Given the description of an element on the screen output the (x, y) to click on. 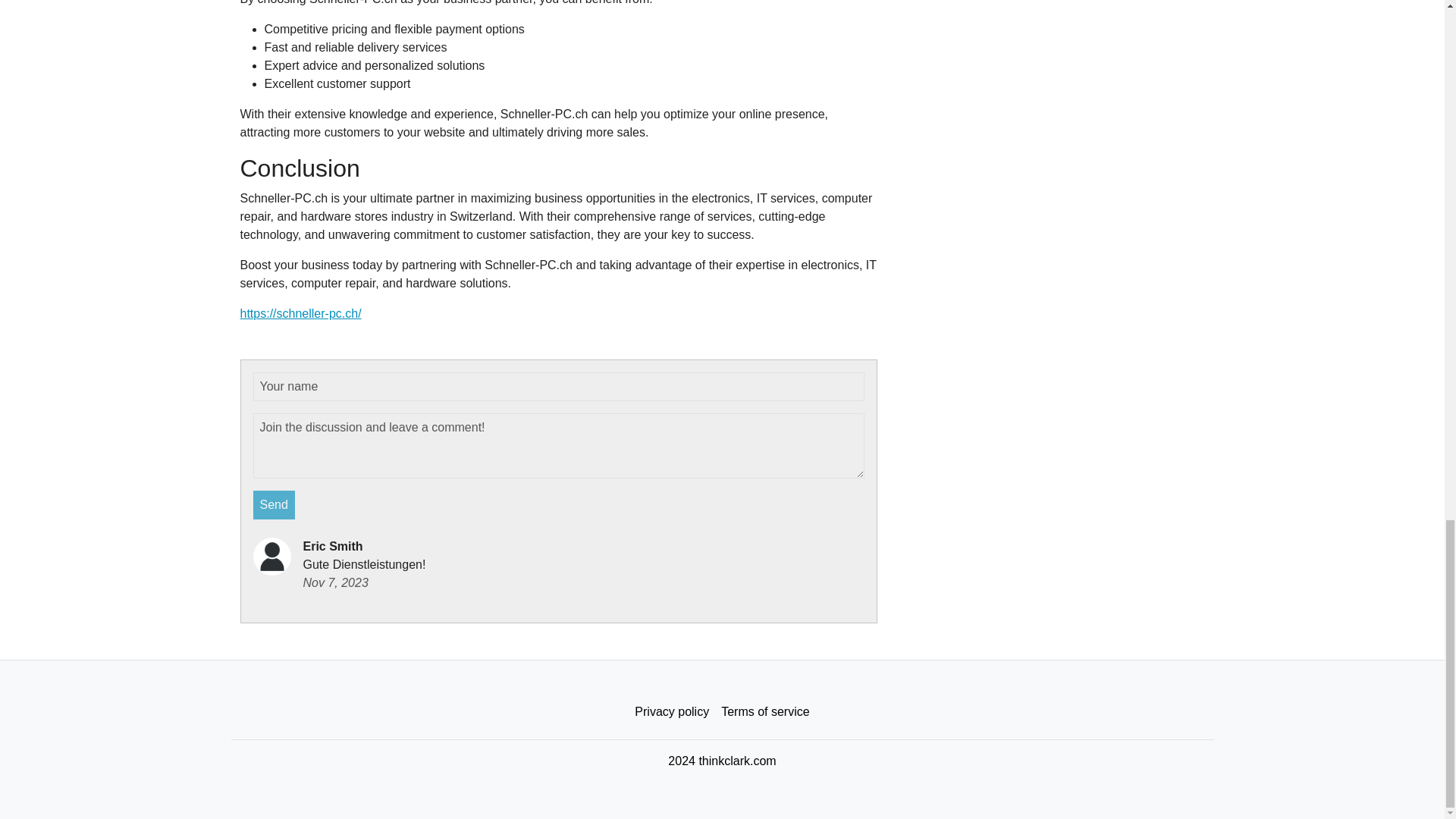
Send (274, 504)
Privacy policy (671, 711)
Terms of service (764, 711)
Send (274, 504)
